Given the description of an element on the screen output the (x, y) to click on. 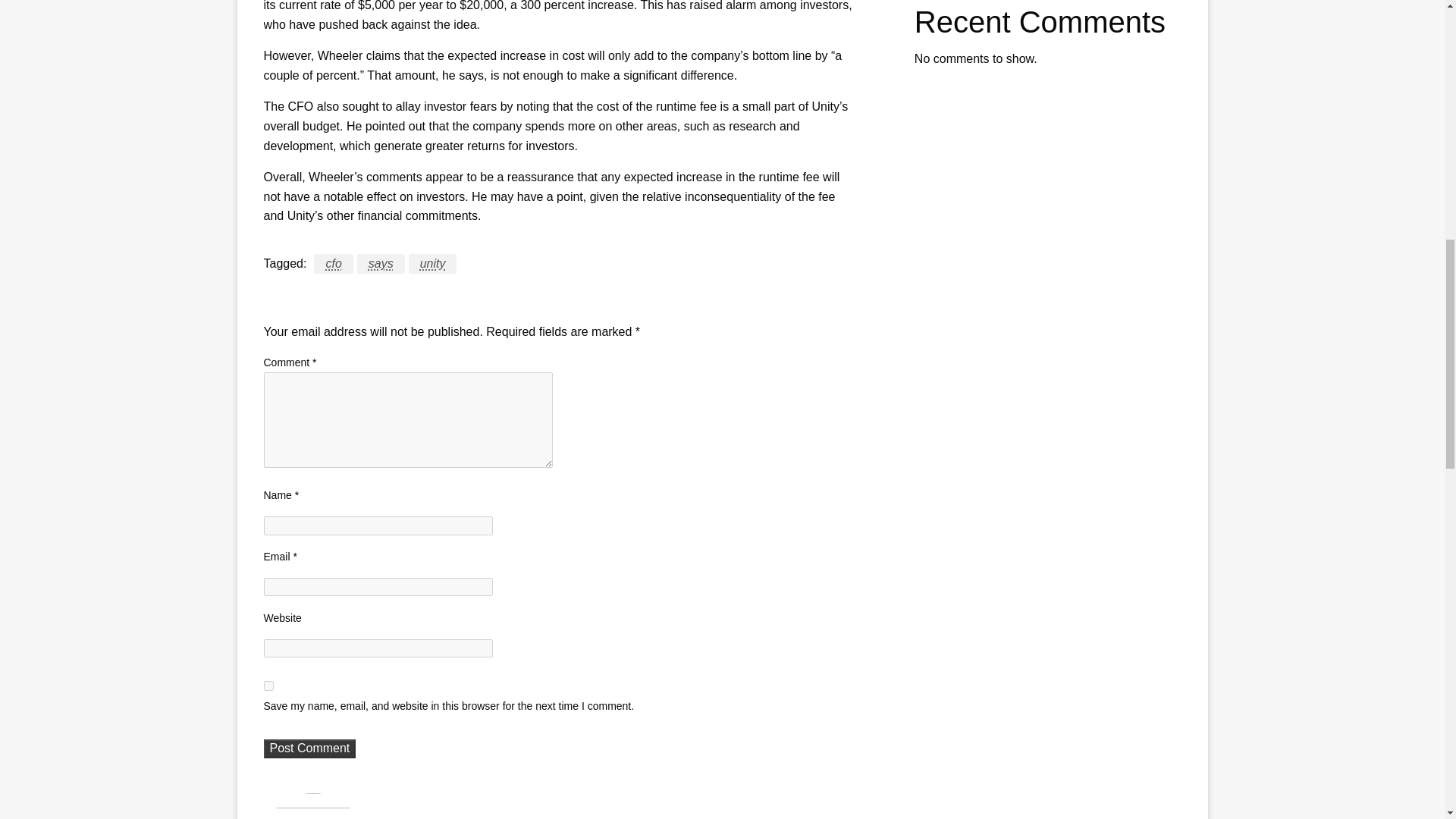
cfo (333, 263)
Post Comment (309, 748)
yes (268, 685)
unity (433, 263)
says (380, 263)
Post Comment (309, 748)
